Given the description of an element on the screen output the (x, y) to click on. 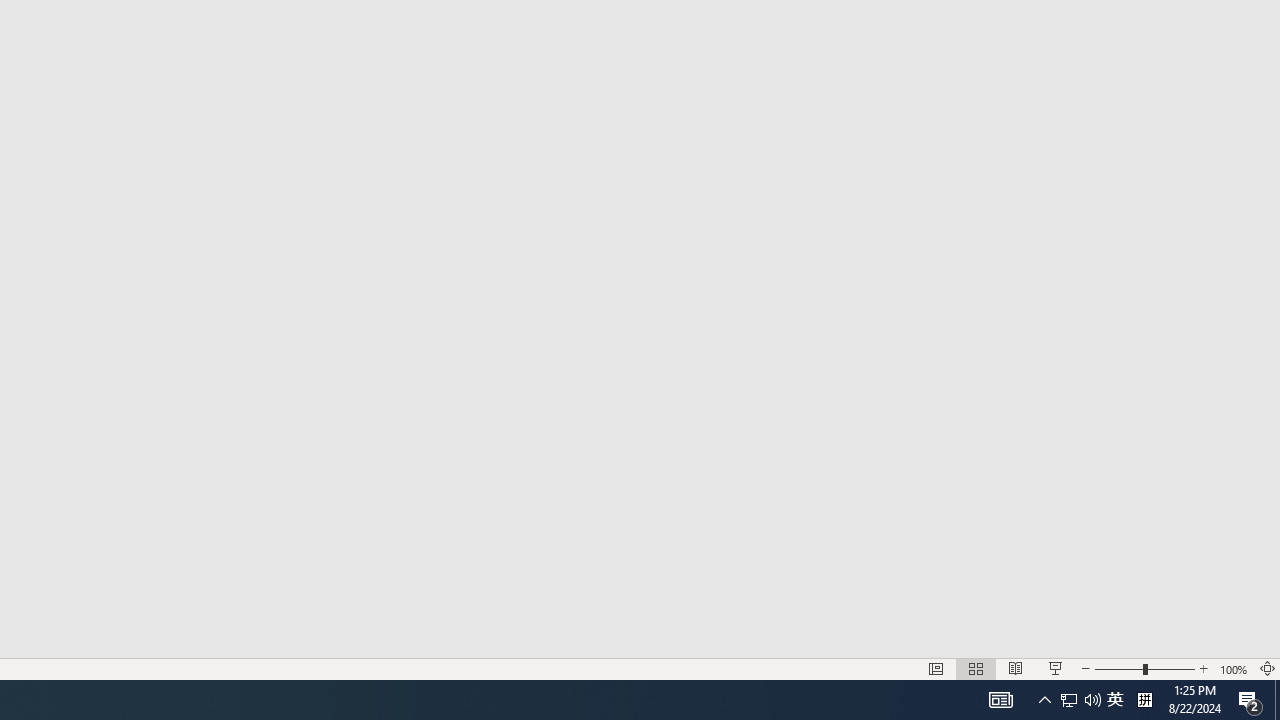
Zoom 100% (1234, 668)
